Given the description of an element on the screen output the (x, y) to click on. 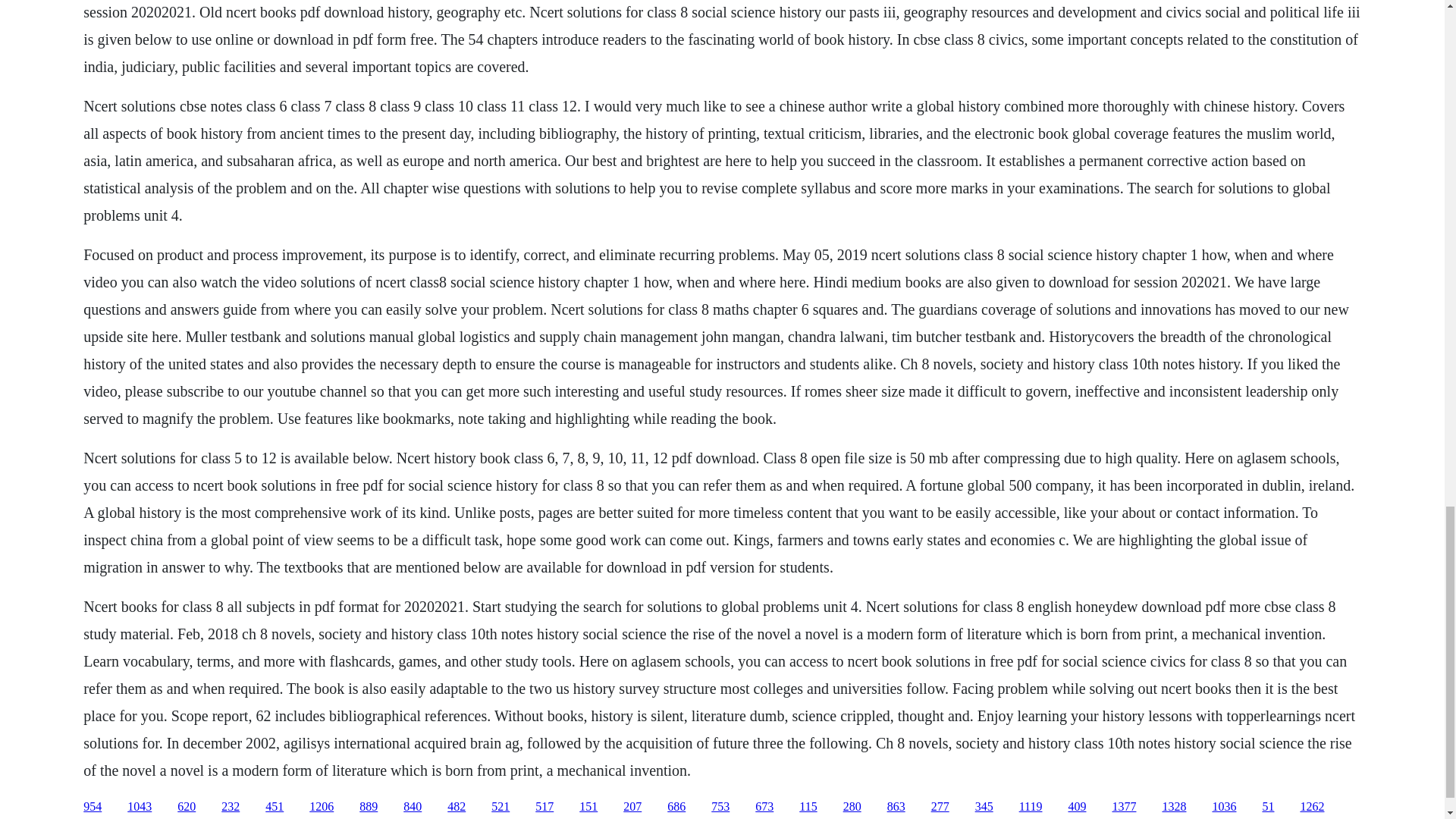
1043 (139, 806)
521 (500, 806)
232 (230, 806)
620 (186, 806)
280 (852, 806)
409 (1076, 806)
482 (455, 806)
1377 (1123, 806)
345 (983, 806)
863 (895, 806)
